Given the description of an element on the screen output the (x, y) to click on. 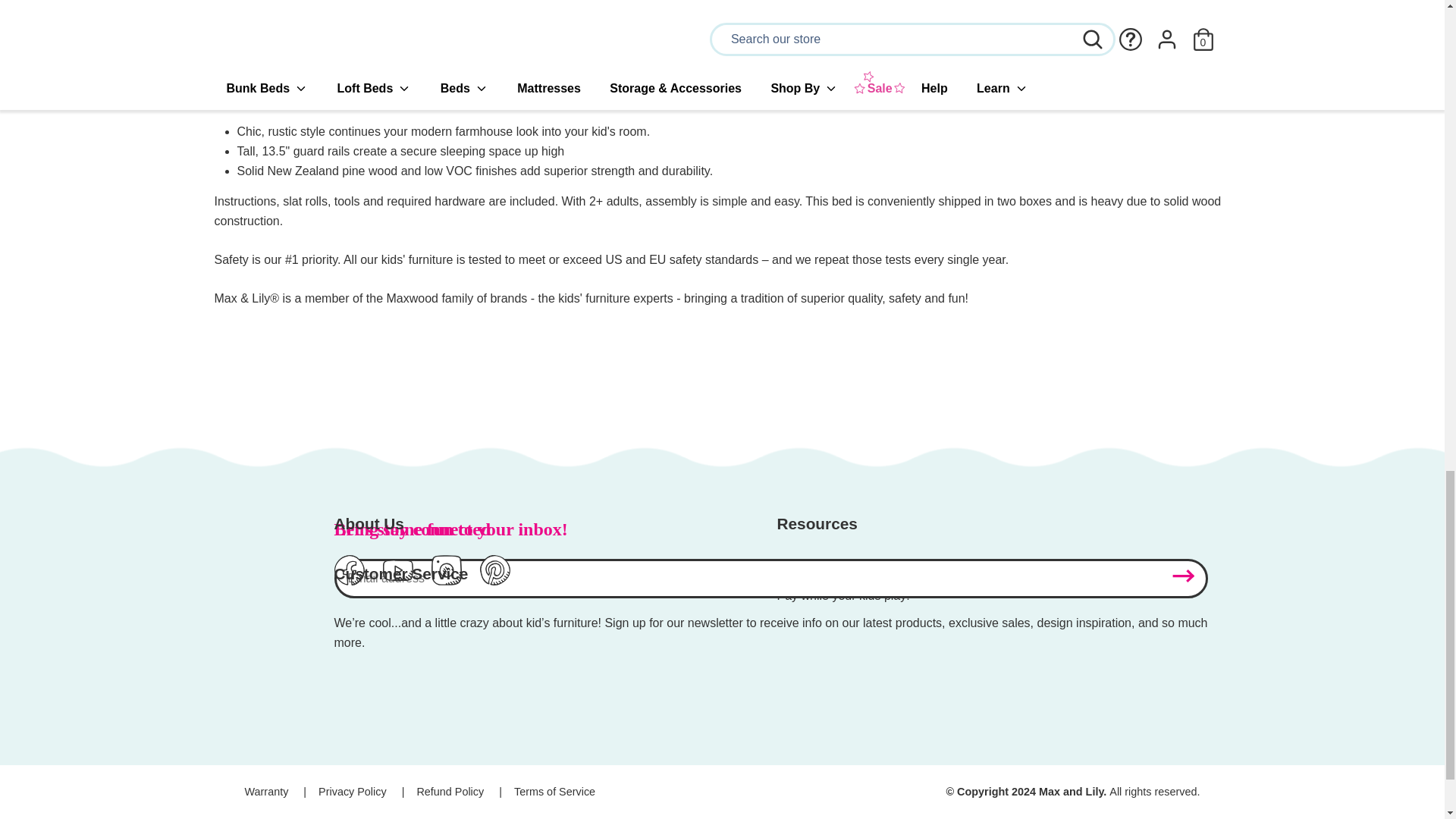
Instagram (445, 581)
Pinterest (494, 581)
Facebook (348, 581)
Youtube (396, 581)
